Given the description of an element on the screen output the (x, y) to click on. 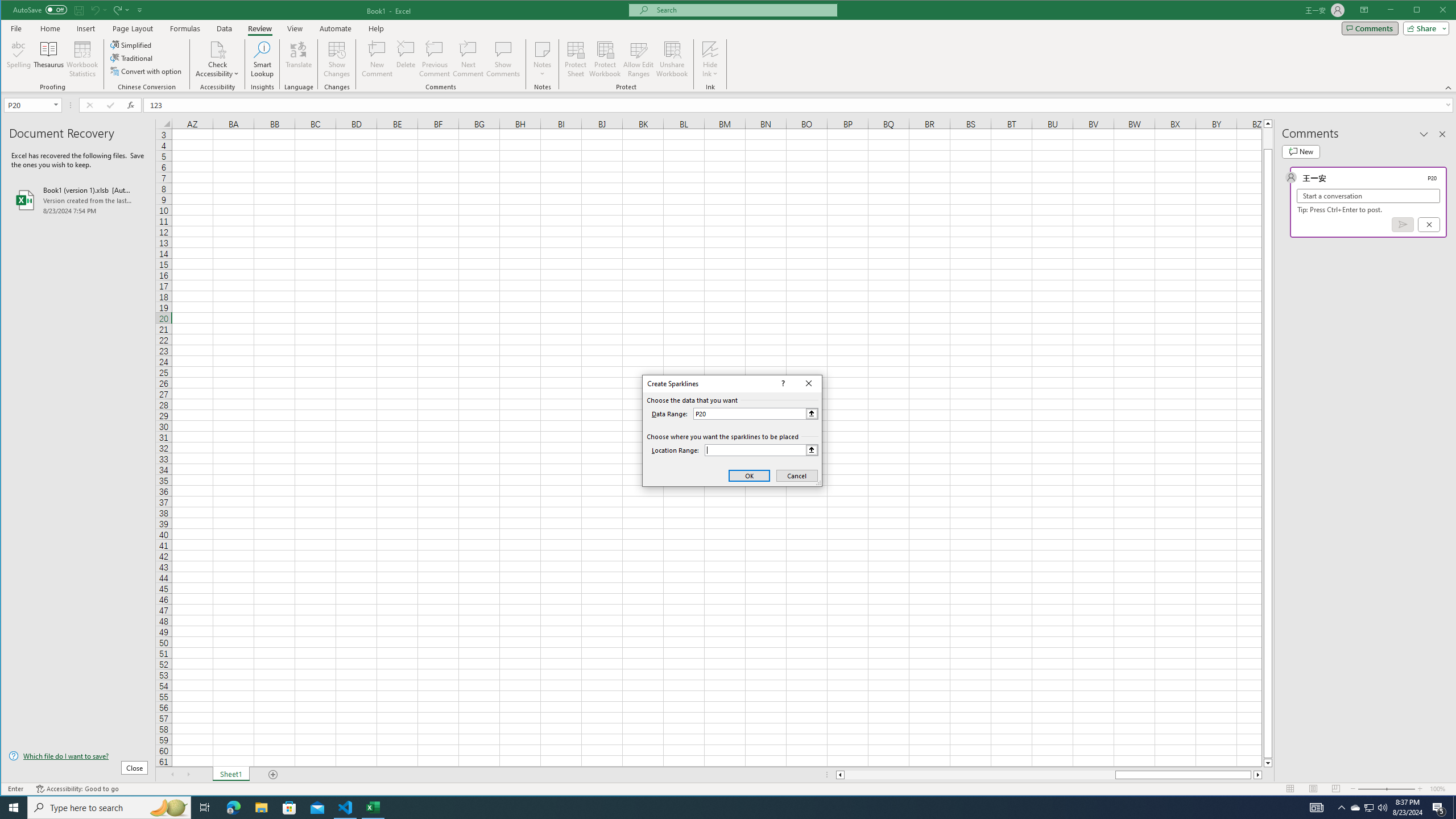
Workbook Statistics (82, 59)
Unshare Workbook (671, 59)
Convert with option (146, 70)
AutoSave (39, 9)
Show Changes (335, 59)
Action Center, 5 new notifications (1439, 807)
Show desktop (1454, 807)
